Given the description of an element on the screen output the (x, y) to click on. 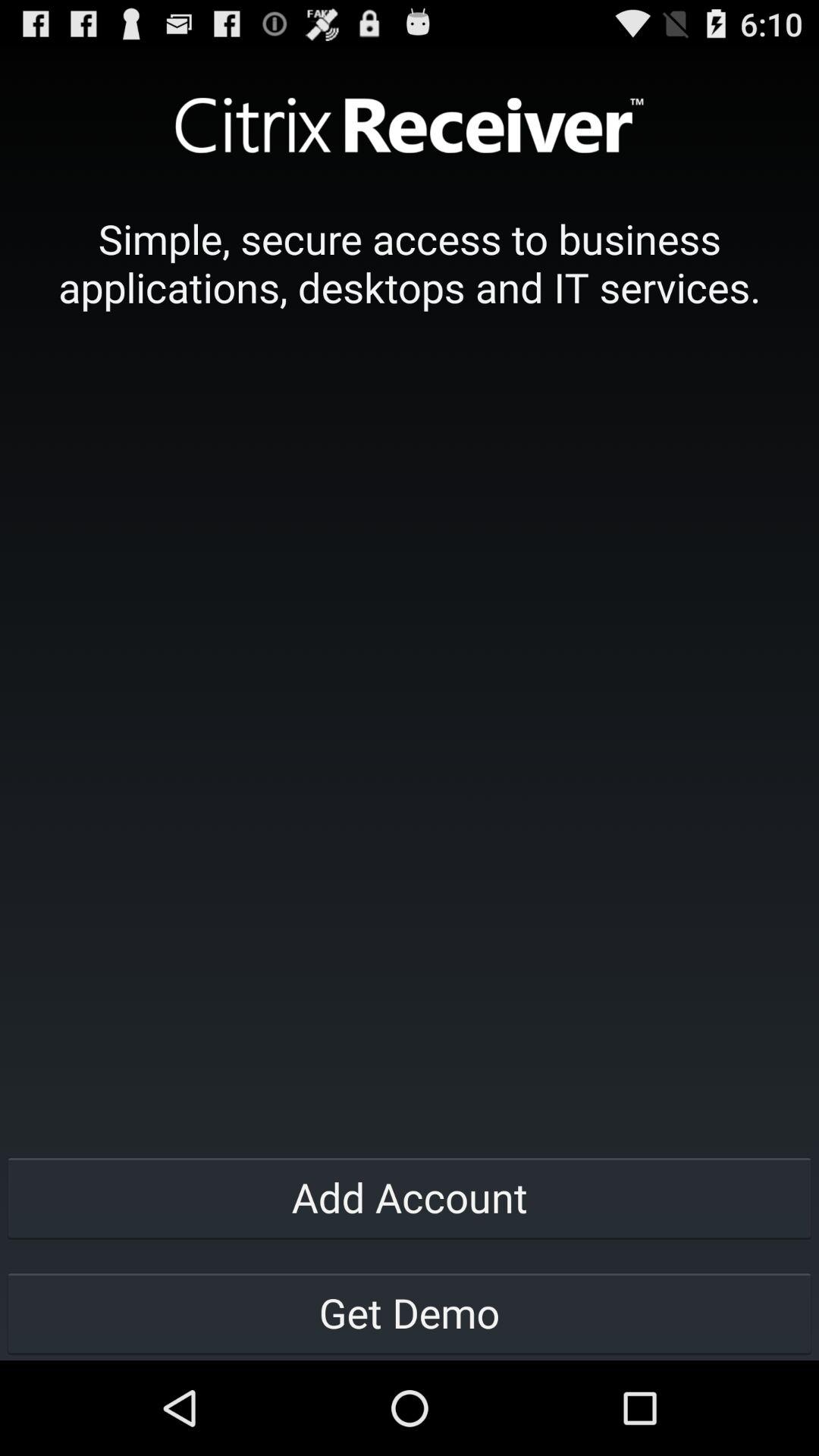
jump to the add account item (409, 1196)
